Given the description of an element on the screen output the (x, y) to click on. 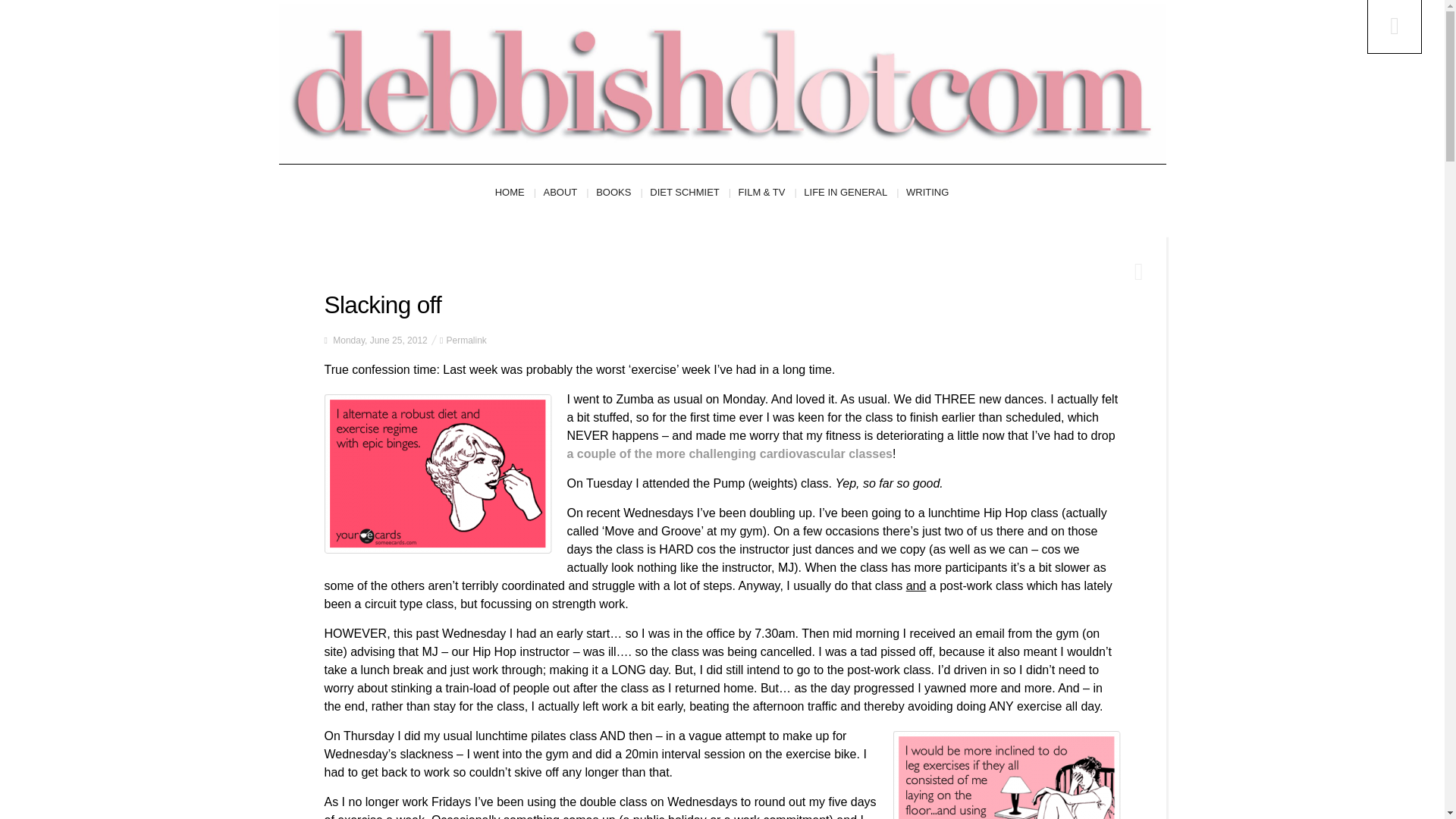
DIET SCHMIET (689, 192)
BOOKS (619, 192)
Permalink (465, 339)
a couple of the more challenging cardiovascular classes (730, 453)
LIFE IN GENERAL (850, 192)
Permalink Slacking off (465, 339)
